Given the description of an element on the screen output the (x, y) to click on. 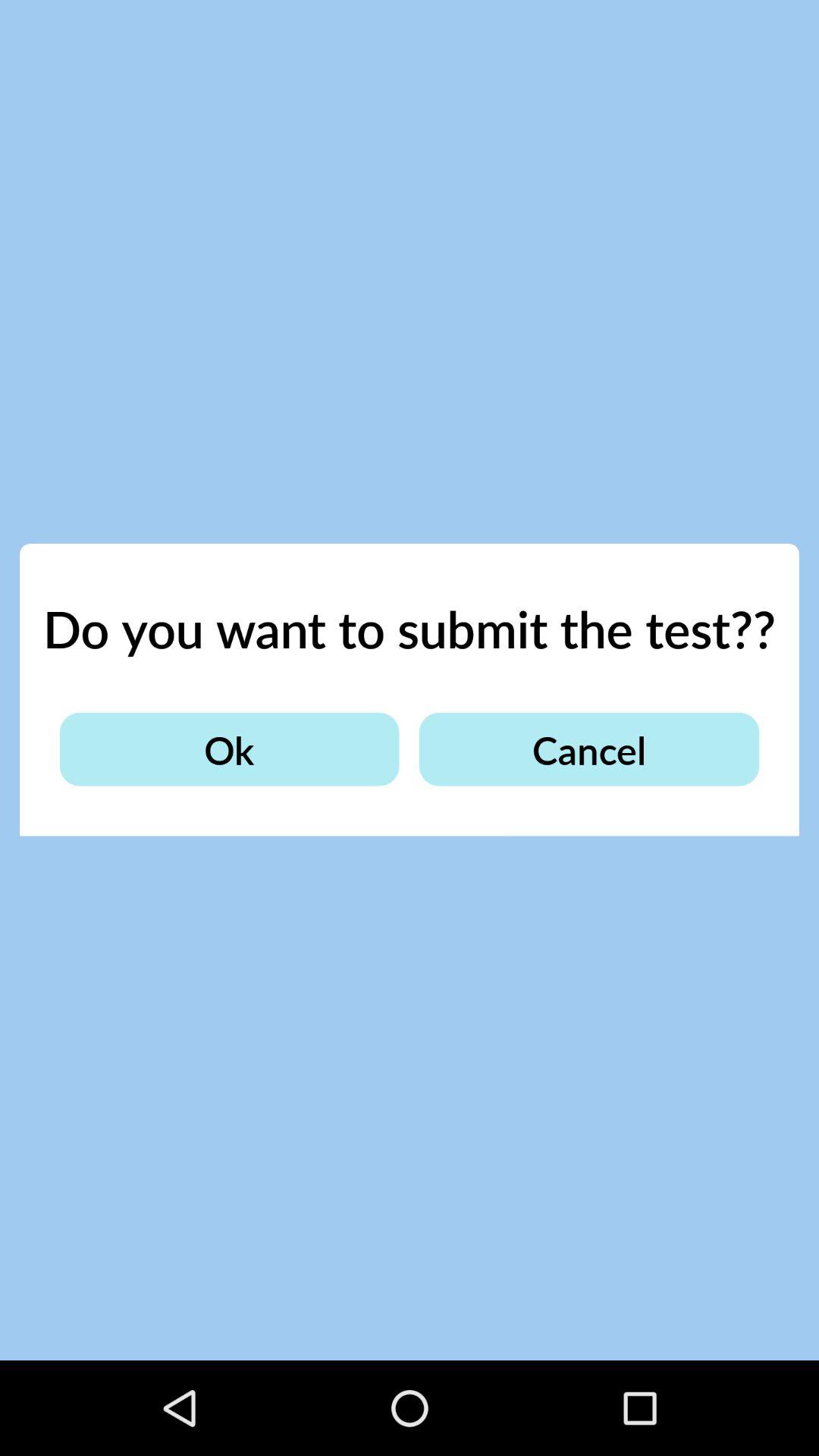
jump to ok (229, 749)
